Given the description of an element on the screen output the (x, y) to click on. 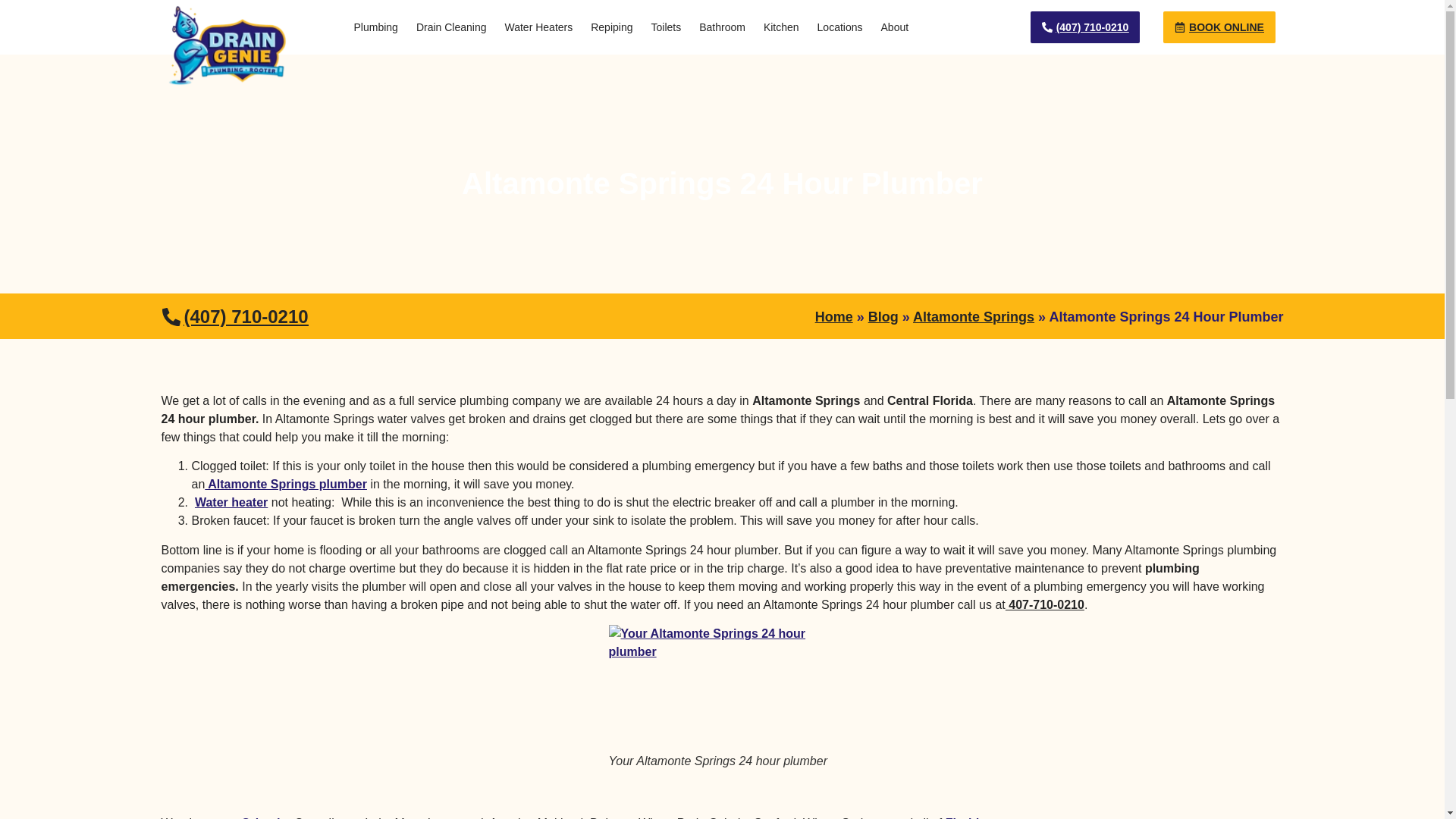
Altamonte Springs Plumbing (285, 483)
Locations (840, 26)
Water Heaters (537, 26)
Orlando Plumber (263, 817)
Drain Cleaning (451, 26)
Repiping (611, 26)
Kitchen (781, 26)
Toilets (666, 26)
Orlando Plumber and Water Damage Specialist (964, 817)
Bathroom (722, 26)
BOOK ONLINE (1219, 27)
Plumbing (374, 26)
About (895, 26)
